Given the description of an element on the screen output the (x, y) to click on. 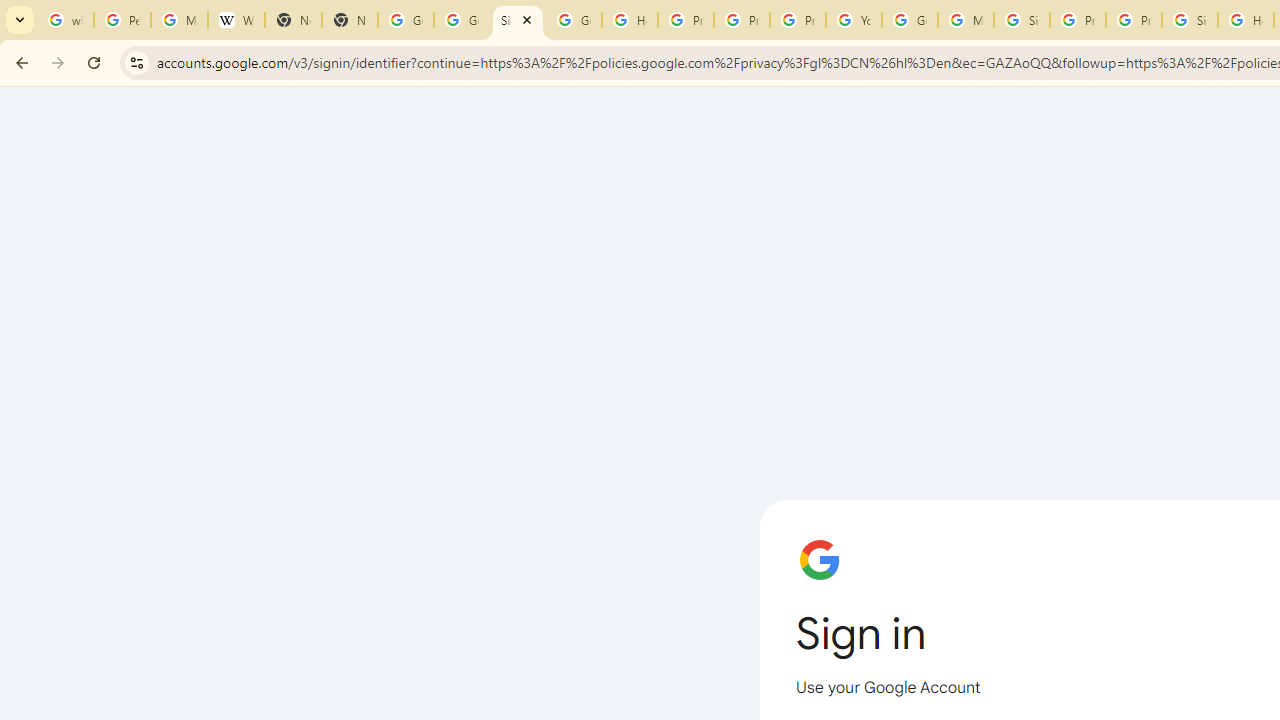
Google Account Help (909, 20)
YouTube (853, 20)
Sign in - Google Accounts (1021, 20)
New Tab (293, 20)
Personalization & Google Search results - Google Search Help (122, 20)
Sign in - Google Accounts (518, 20)
